Given the description of an element on the screen output the (x, y) to click on. 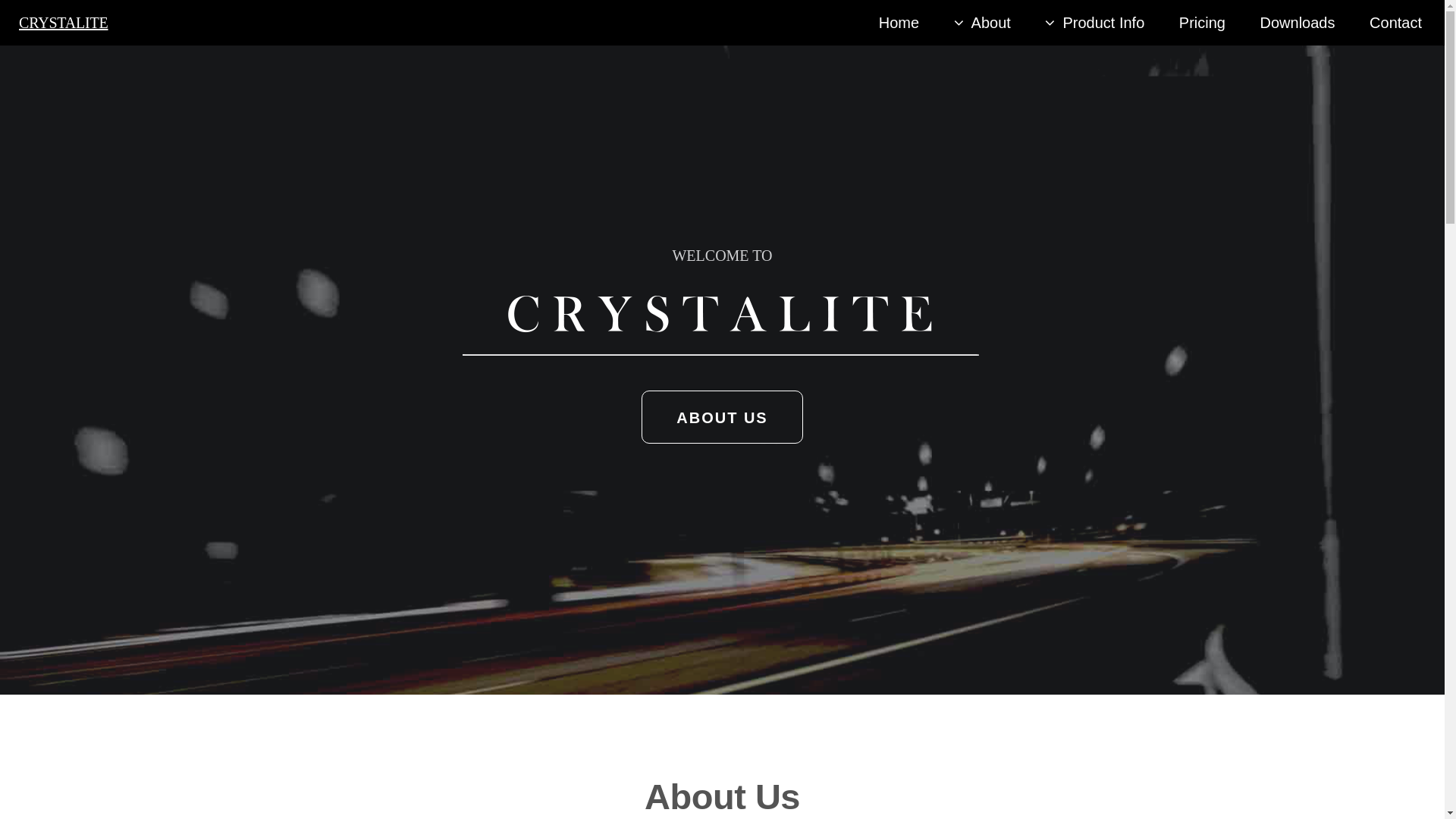
Pricing Element type: text (1202, 22)
ABOUT US Element type: text (721, 416)
About Element type: text (981, 22)
Product Info Element type: text (1094, 22)
CRYSTALITE Element type: text (63, 22)
Contact Element type: text (1395, 22)
Home Element type: text (898, 22)
Downloads Element type: text (1297, 22)
